Given the description of an element on the screen output the (x, y) to click on. 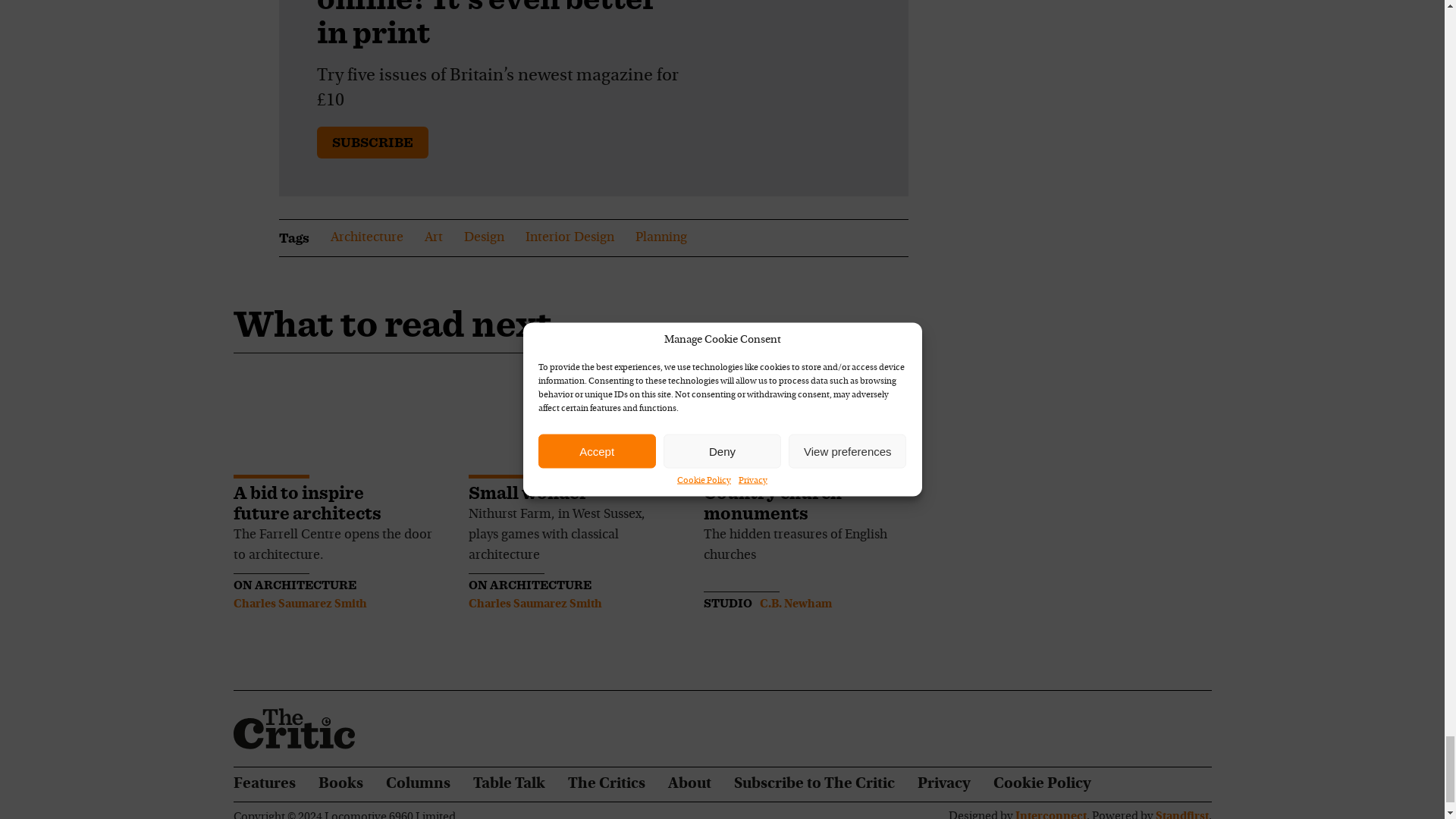
Posts by Charles Saumarez Smith (535, 604)
Posts by C.B. Newham (795, 604)
Posts by Charles Saumarez Smith (299, 604)
